Given the description of an element on the screen output the (x, y) to click on. 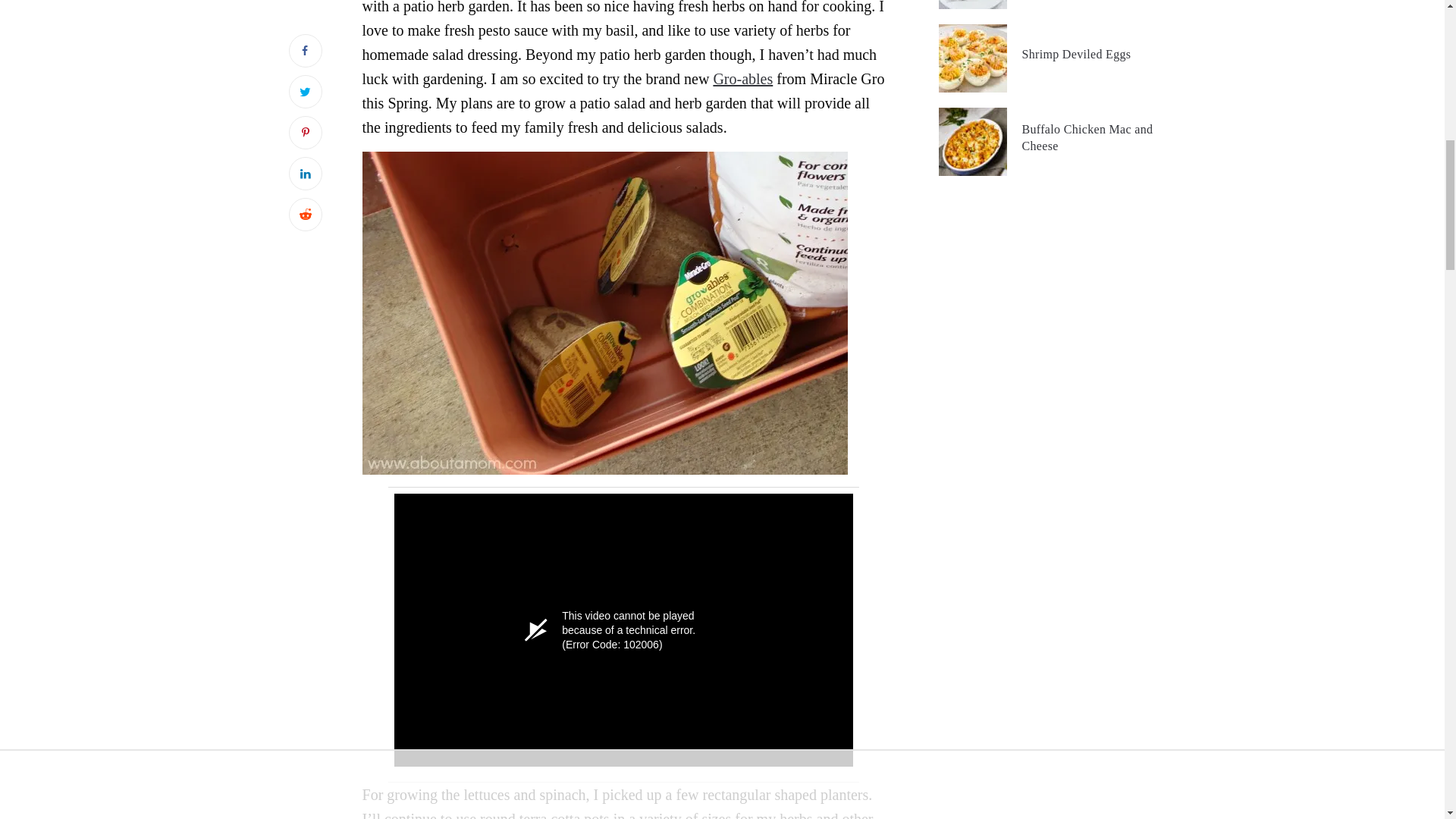
Gro-ables (743, 78)
Shrimp Deviled Eggs (1076, 54)
Buffalo Chicken Mac and Cheese (1094, 138)
